Given the description of an element on the screen output the (x, y) to click on. 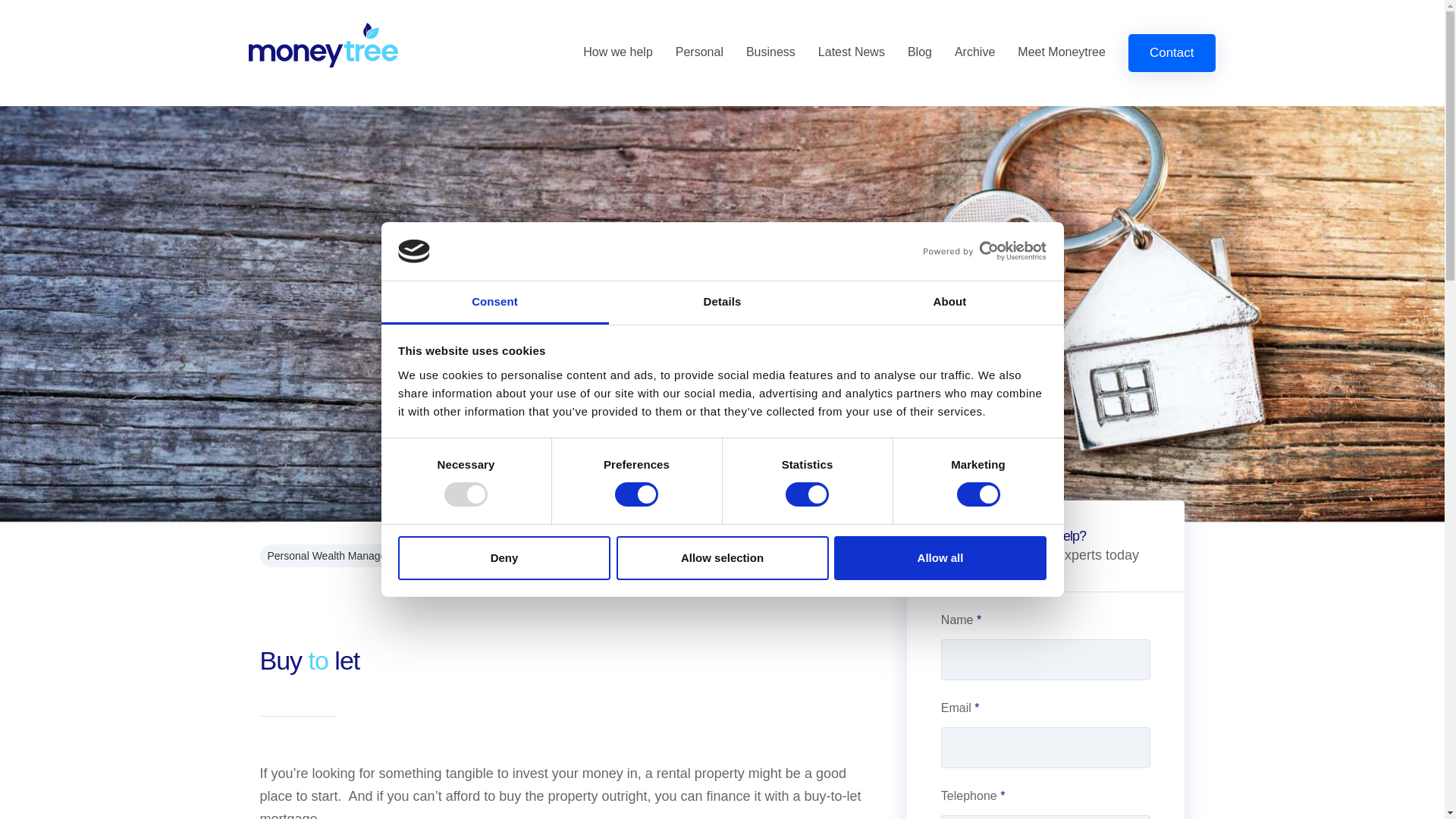
Details (721, 302)
Personal (699, 52)
Allow selection (721, 557)
Deny (503, 557)
Consent (494, 302)
About (948, 302)
How we help (617, 52)
Allow all (940, 557)
